Given the description of an element on the screen output the (x, y) to click on. 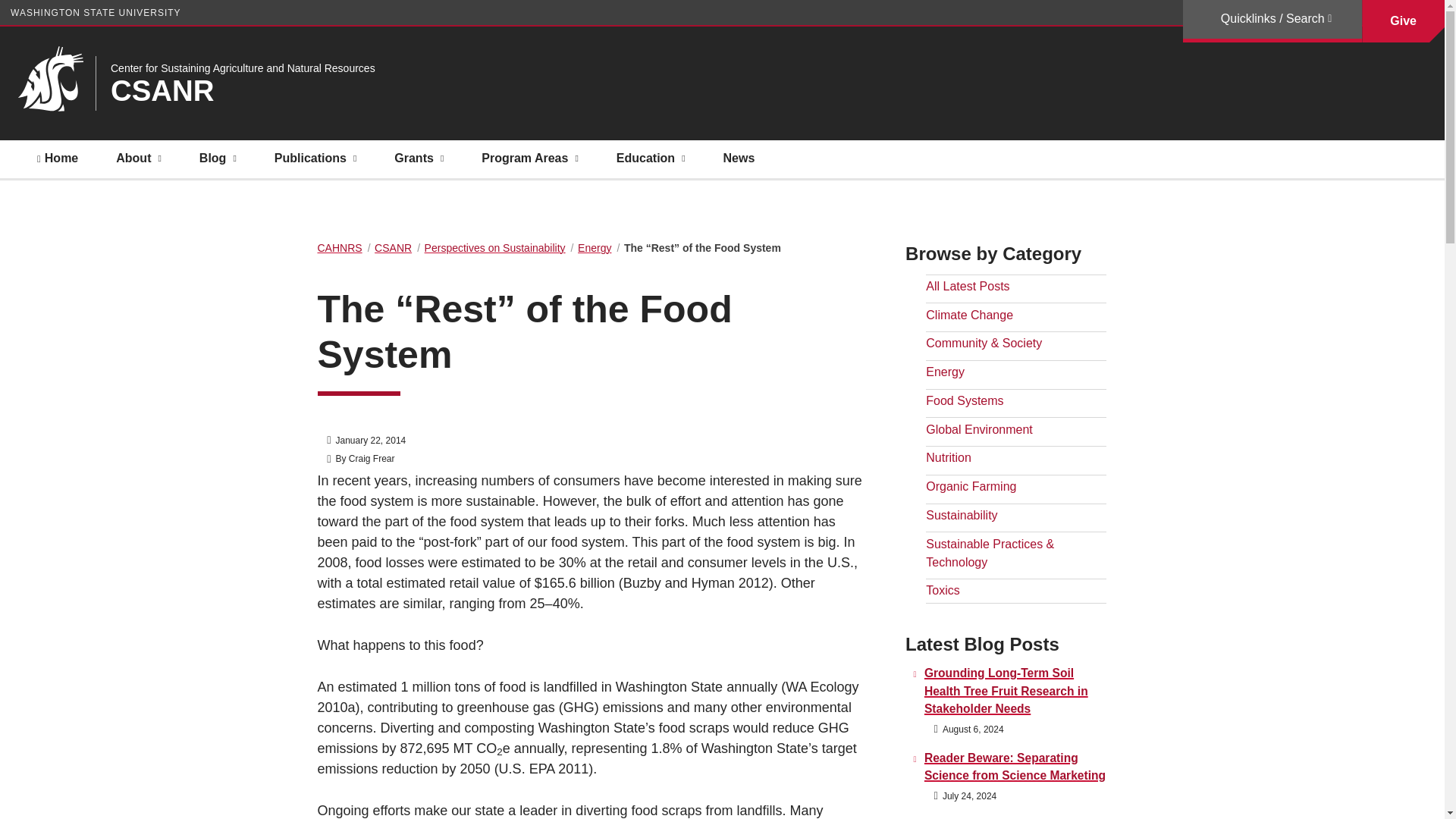
Go to the Energy Category archives. (594, 247)
WASHINGTON STATE UNIVERSITY (96, 12)
Go to CAHNRS Home. (339, 247)
Go to the Perspectives on Sustainability Category archives. (495, 247)
Go to CSANR. (393, 247)
